Given the description of an element on the screen output the (x, y) to click on. 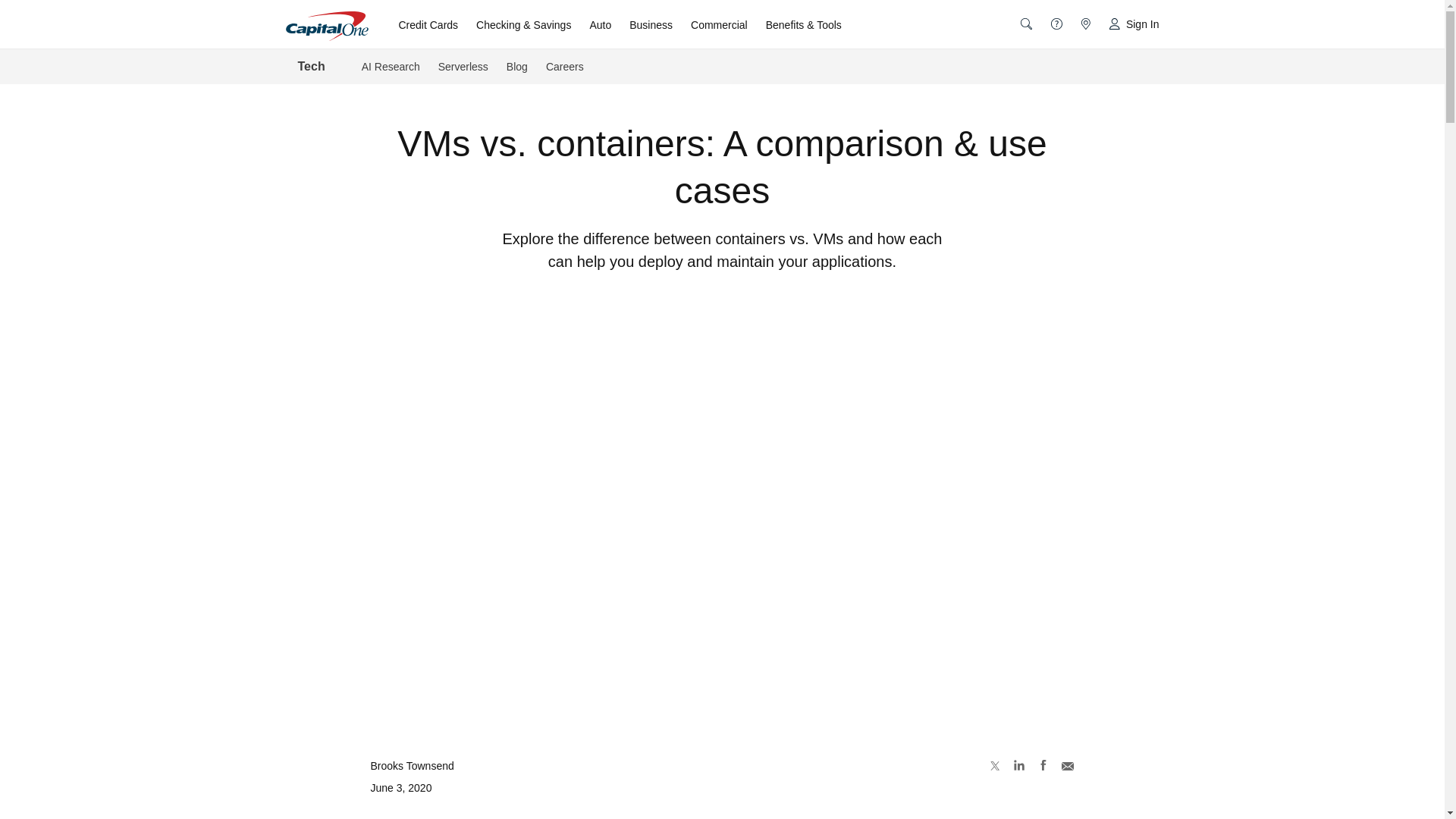
Commercial (719, 24)
Business (650, 24)
Sign In (1129, 24)
Credit Cards (428, 24)
